Given the description of an element on the screen output the (x, y) to click on. 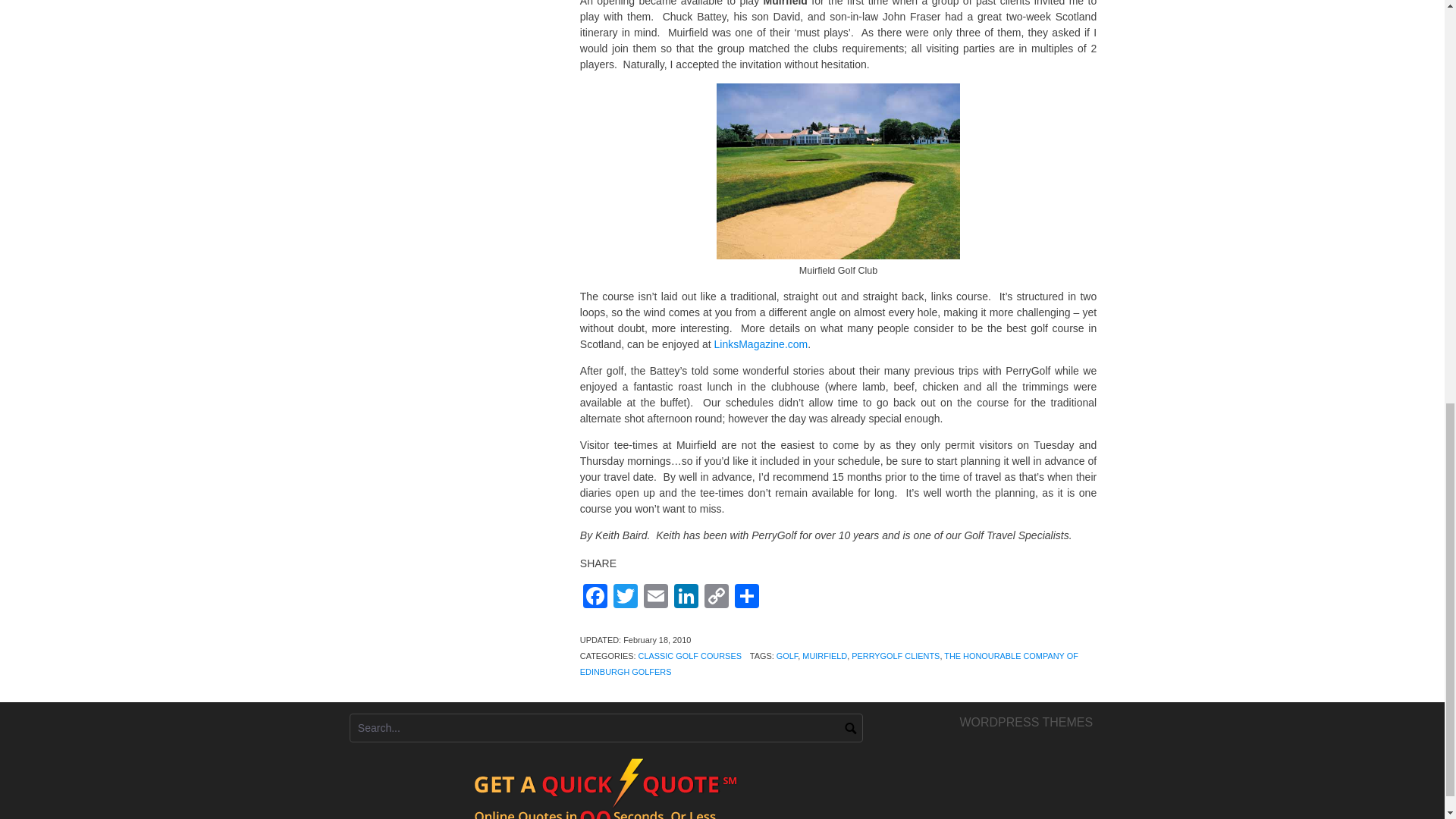
Facebook (594, 597)
Copy Link (716, 597)
Twitter (625, 597)
LinksMagazine.com (761, 344)
Email (655, 597)
Facebook (594, 597)
LinkedIn (686, 597)
Search for: (606, 727)
